Given the description of an element on the screen output the (x, y) to click on. 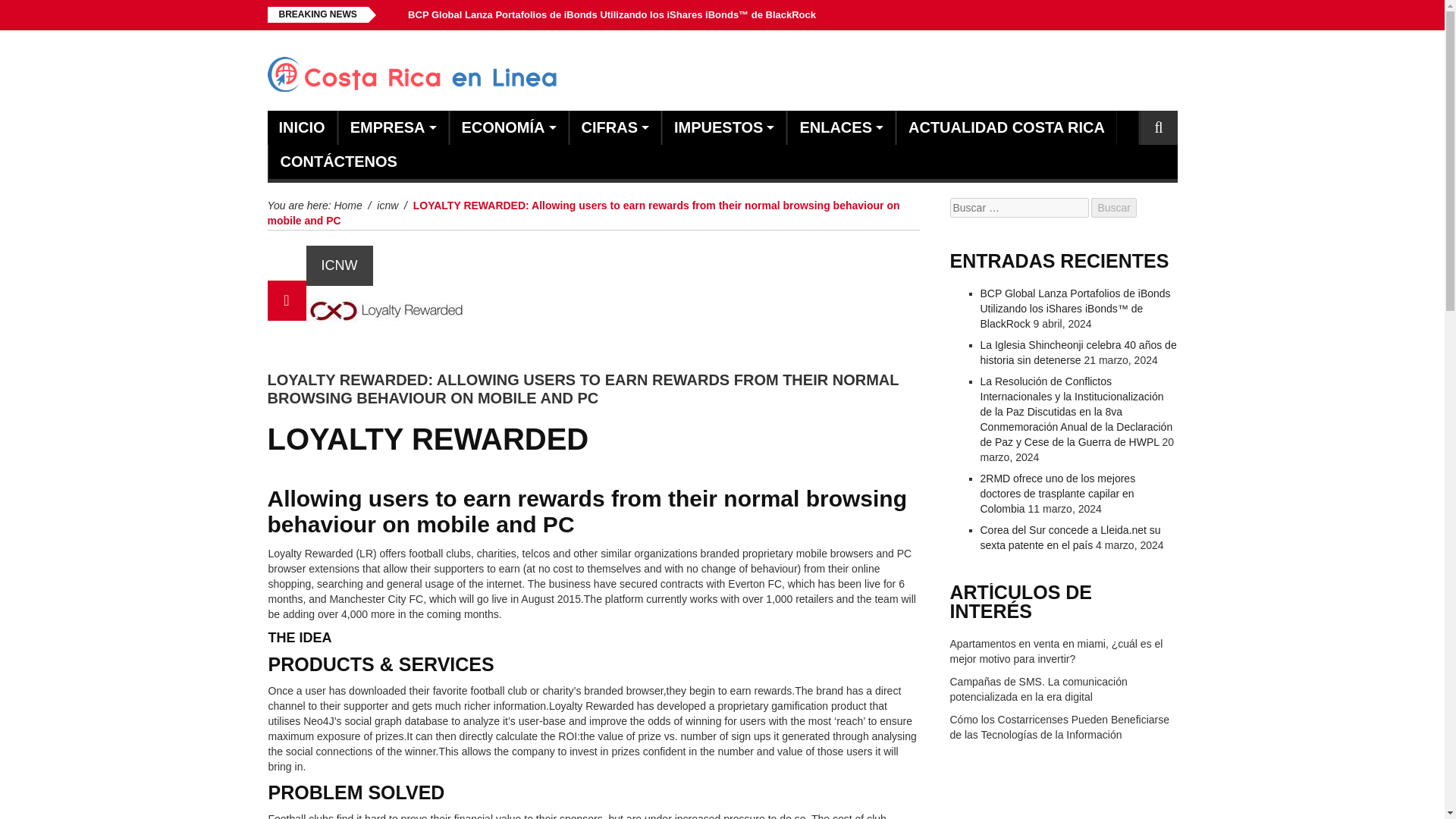
Buscar (1113, 207)
EMPRESA (387, 127)
INICIO (301, 127)
IMPUESTOS (718, 127)
CIFRAS (608, 127)
ACTUALIDAD COSTA RICA (1006, 127)
Buscar (1113, 207)
ENLACES (835, 127)
